Given the description of an element on the screen output the (x, y) to click on. 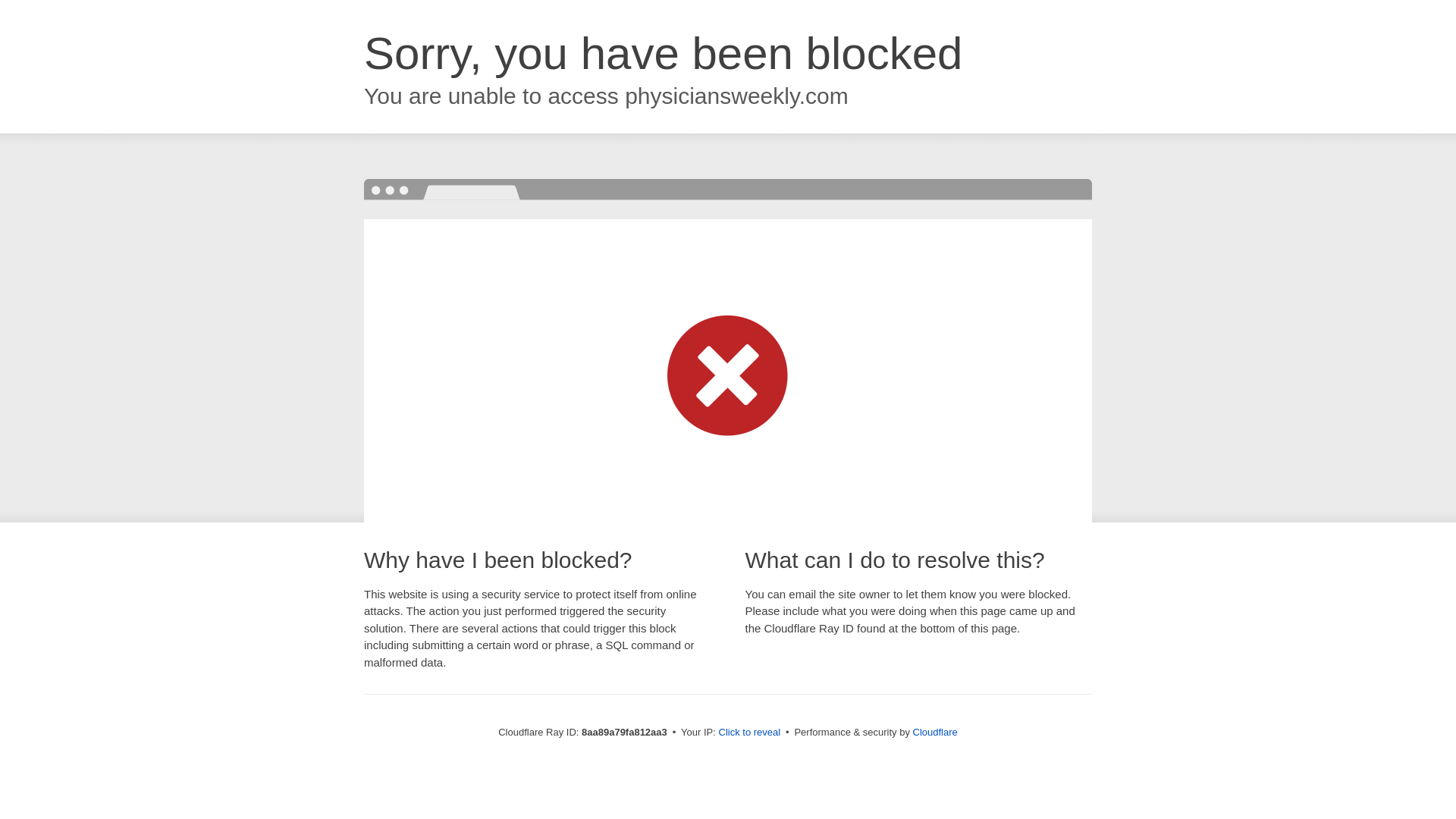
Cloudflare (935, 731)
Click to reveal (749, 732)
